Given the description of an element on the screen output the (x, y) to click on. 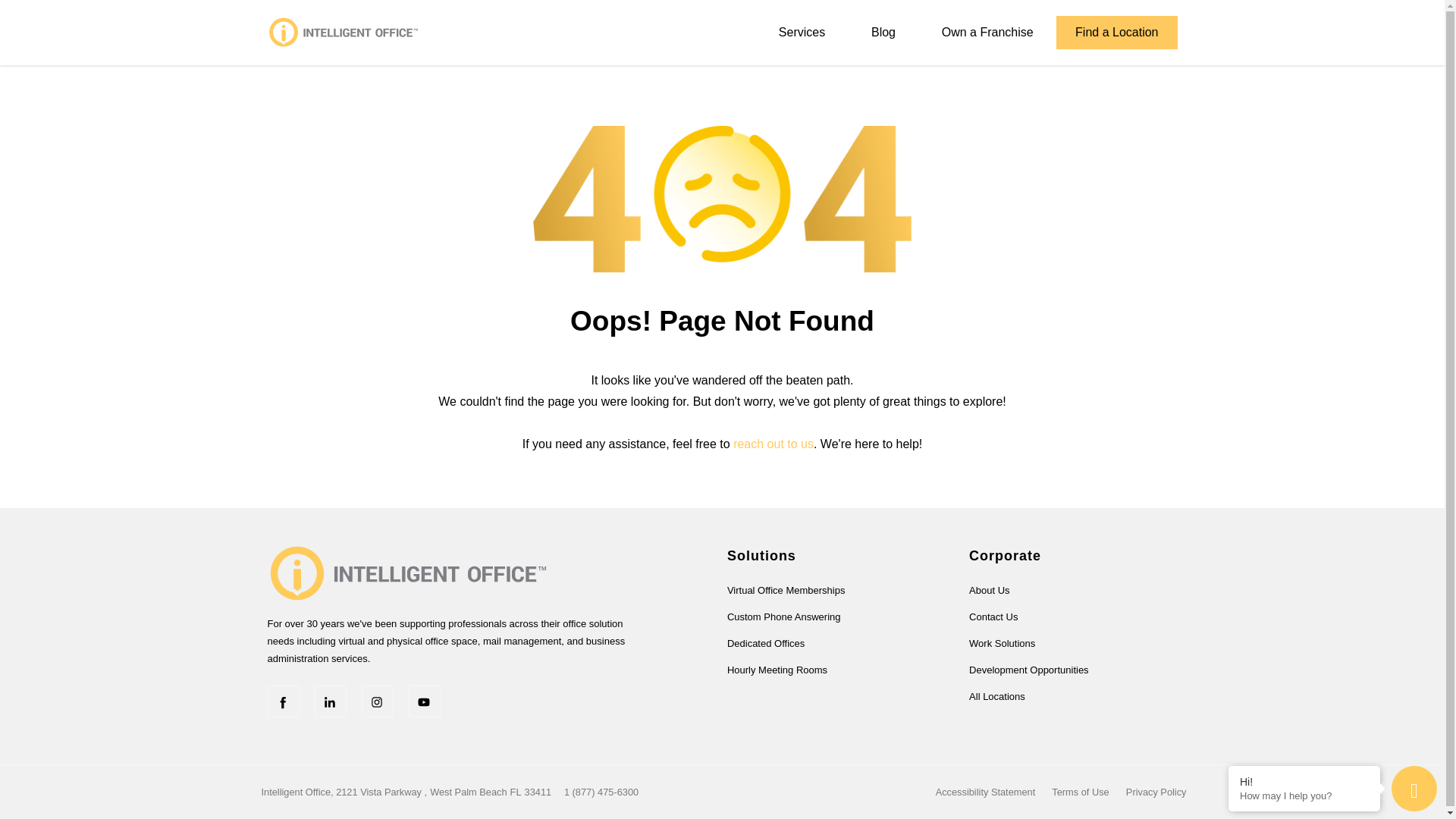
Youtube (423, 701)
How may I help you? (1304, 795)
Own a Franchise (987, 32)
Facebook (282, 701)
reach out to us (773, 443)
Skip to main content (721, 41)
Services (801, 32)
Find a Location (1116, 32)
Instagram (377, 701)
Intelligent Office (407, 571)
Intelligent Office (342, 31)
Hi! (1304, 781)
Facebook (282, 701)
Linkedin (330, 701)
Linkedin (330, 701)
